Given the description of an element on the screen output the (x, y) to click on. 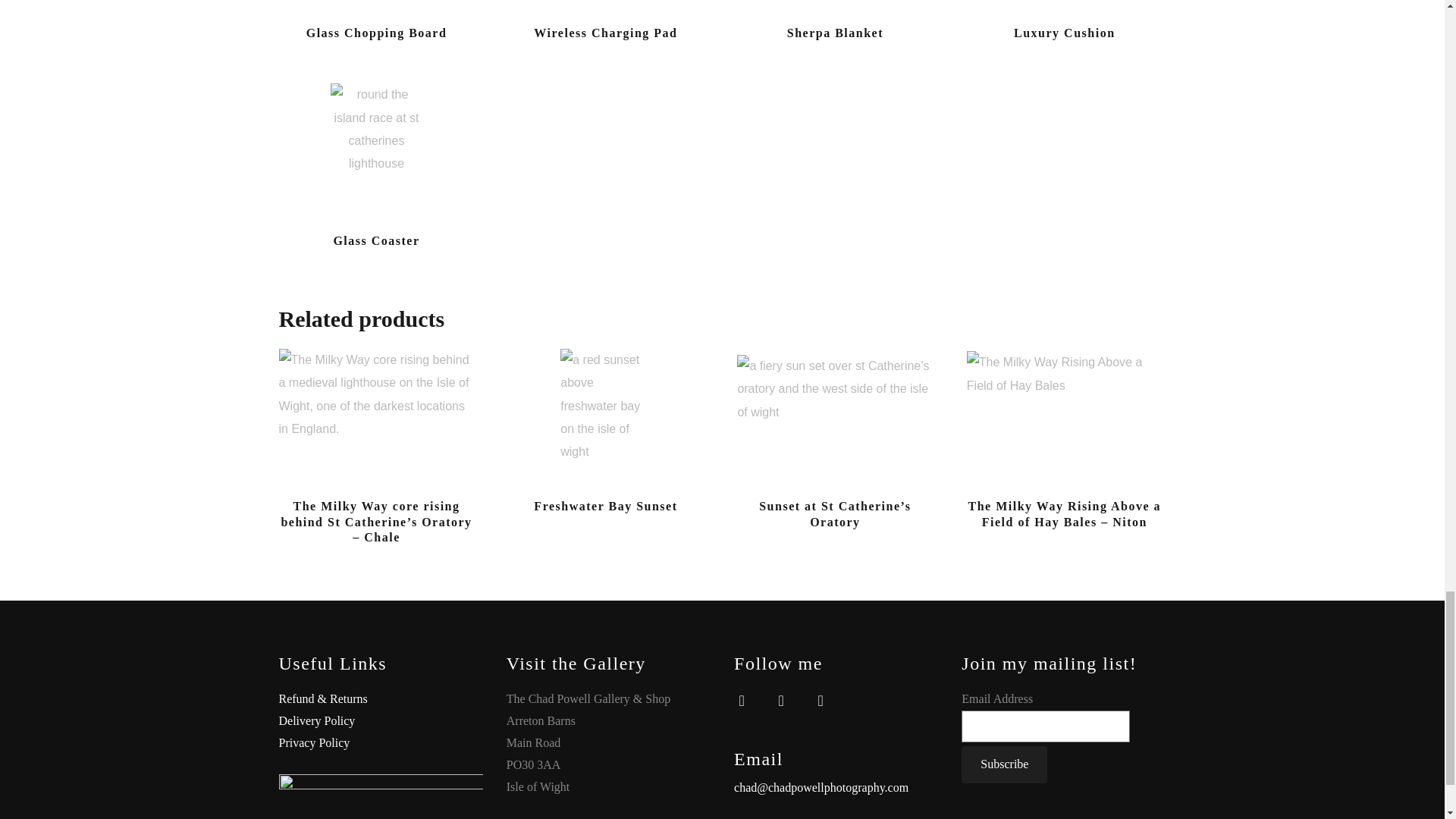
Instagram (780, 698)
Facebook (741, 698)
